Given the description of an element on the screen output the (x, y) to click on. 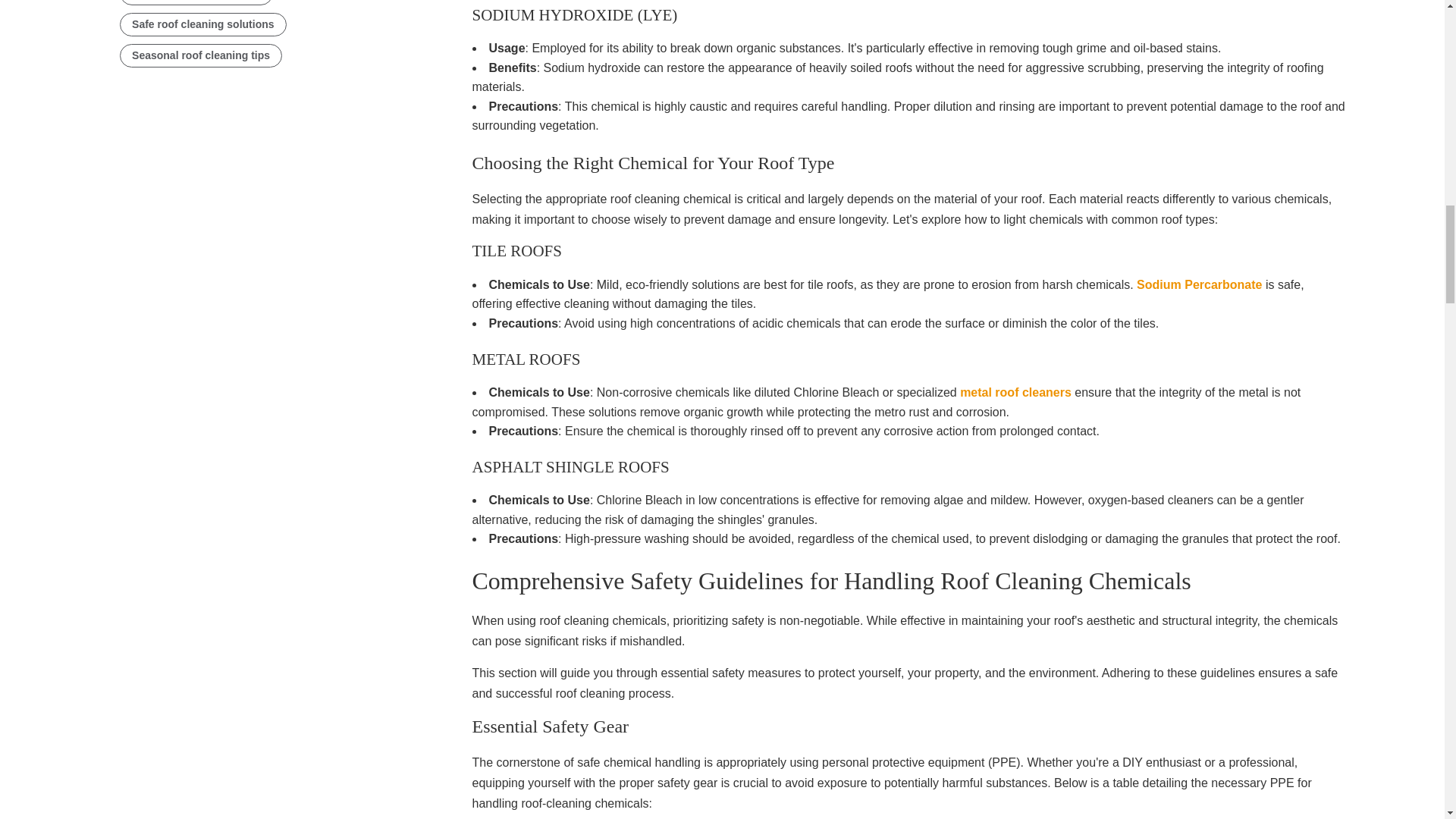
metal roof cleaners (1015, 391)
Sodium Percarbonate (1199, 284)
